Given the description of an element on the screen output the (x, y) to click on. 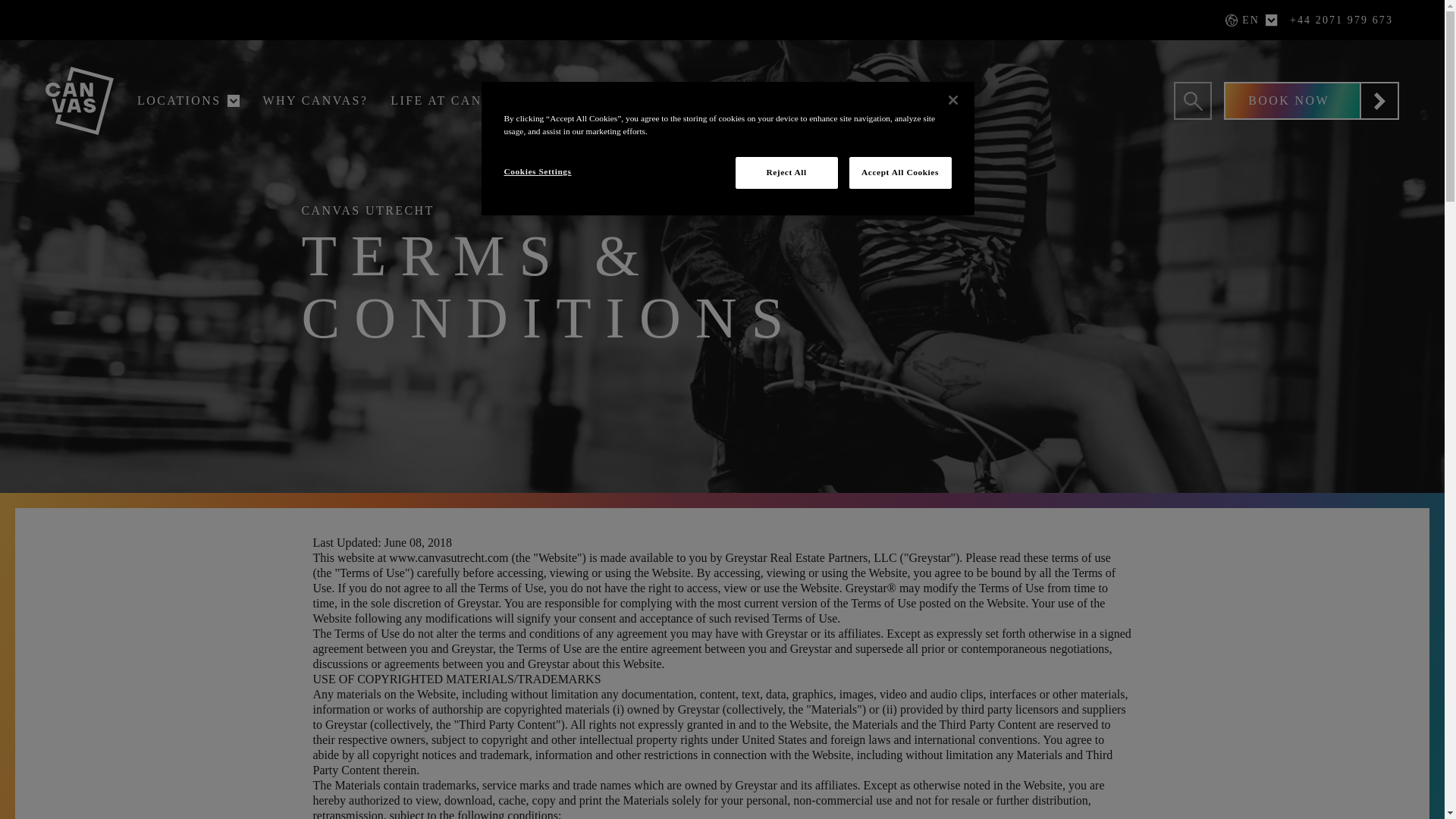
LIFE AT CANVAS (452, 100)
MORE (579, 100)
Search (1192, 100)
EN (1222, 58)
BLOG (465, 141)
WHY CANVAS? (315, 100)
LOCATIONS (182, 100)
SUMMER SHORT STAYS (509, 137)
Phone Canvas (1341, 19)
EN (1246, 19)
